Given the description of an element on the screen output the (x, y) to click on. 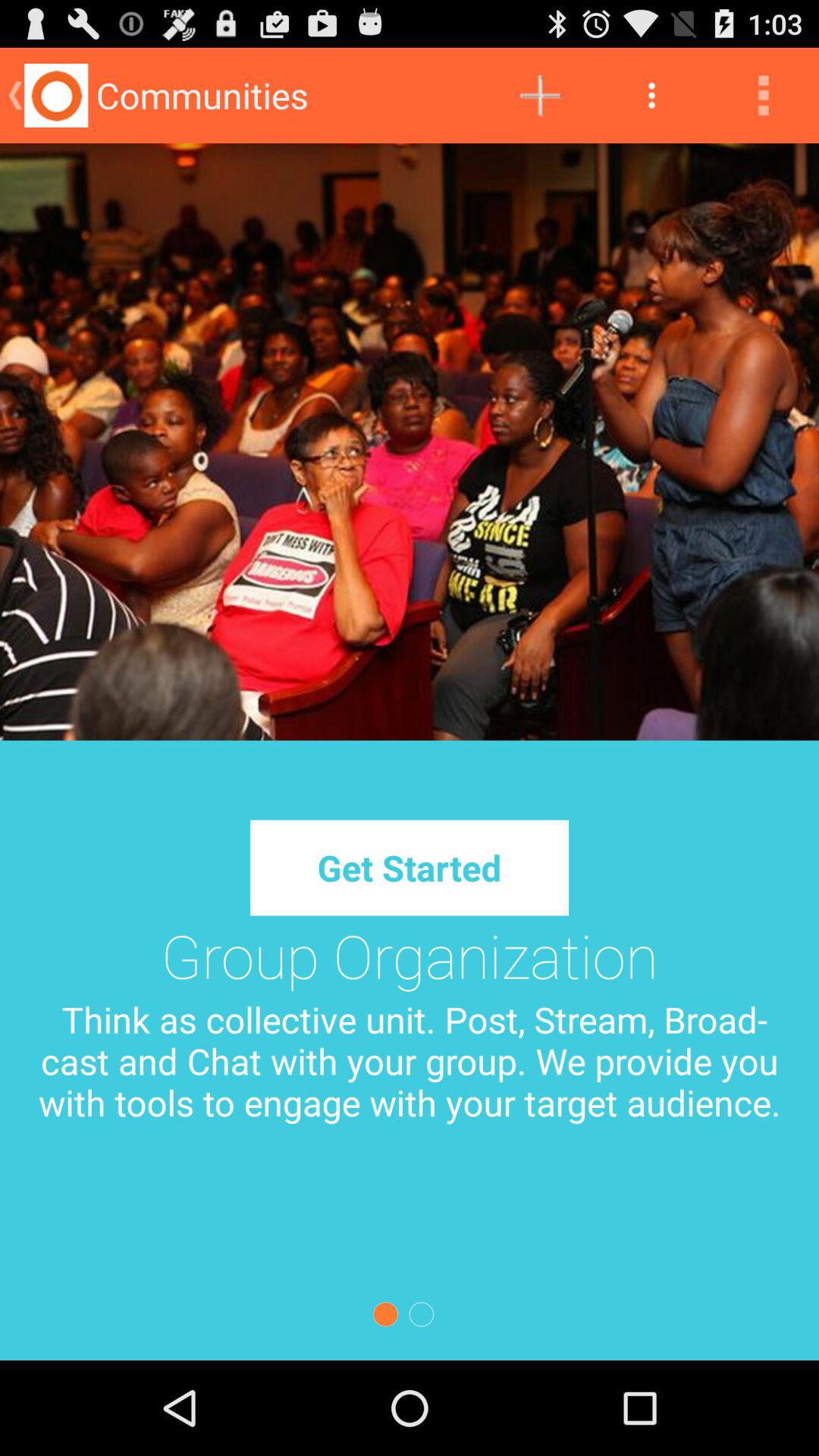
choose the get started button (409, 867)
